Given the description of an element on the screen output the (x, y) to click on. 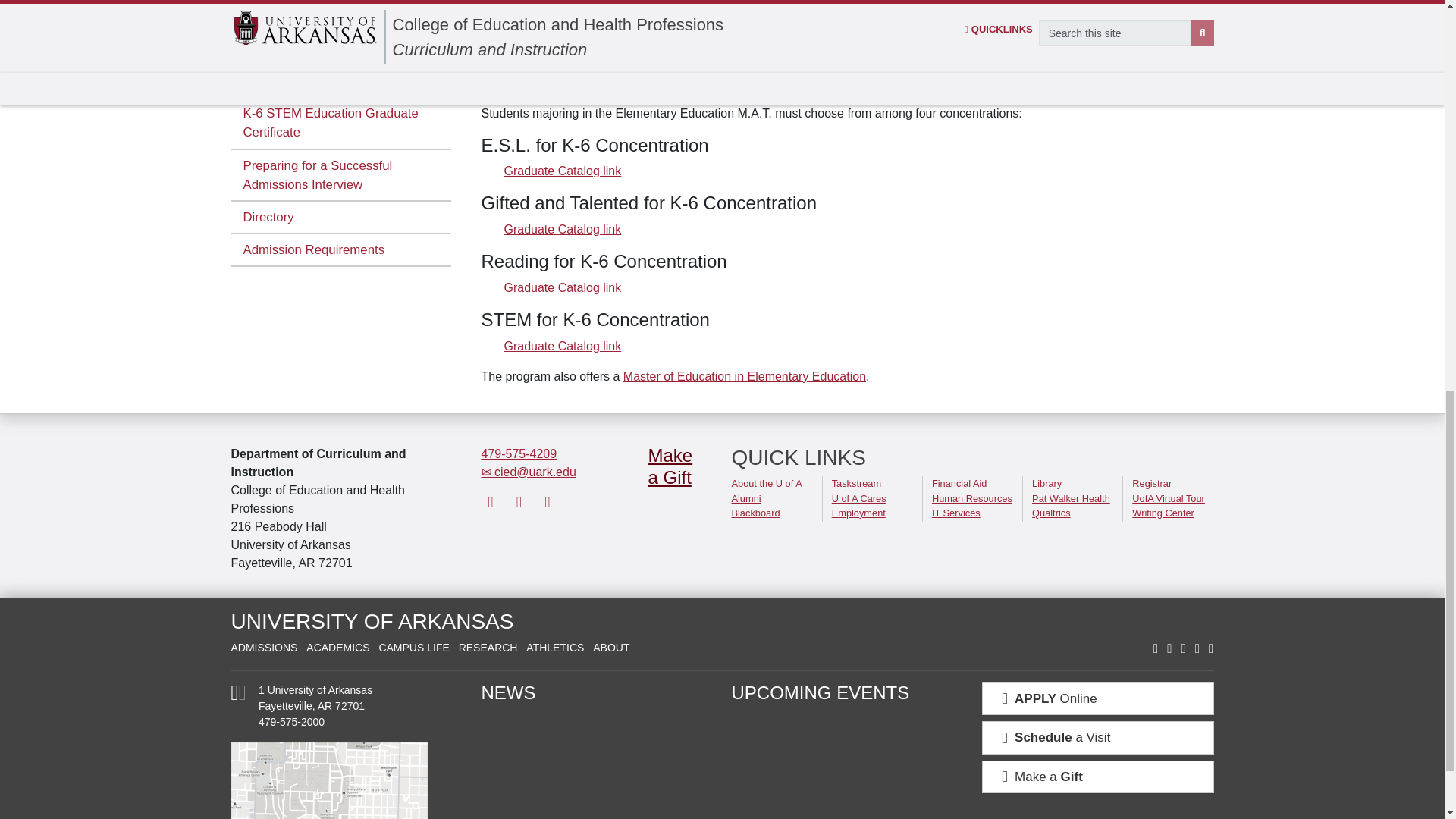
The Quality Writing Center (1162, 512)
U of A Cares (858, 498)
UofA Libraries (1046, 482)
UofA Career Site (858, 512)
About the UofA (766, 482)
Blackboard Login (754, 512)
University of Arkansas Home Page (371, 621)
Information Technology Services (955, 512)
Taskstream Login (855, 482)
Financial Aid (959, 482)
